Given the description of an element on the screen output the (x, y) to click on. 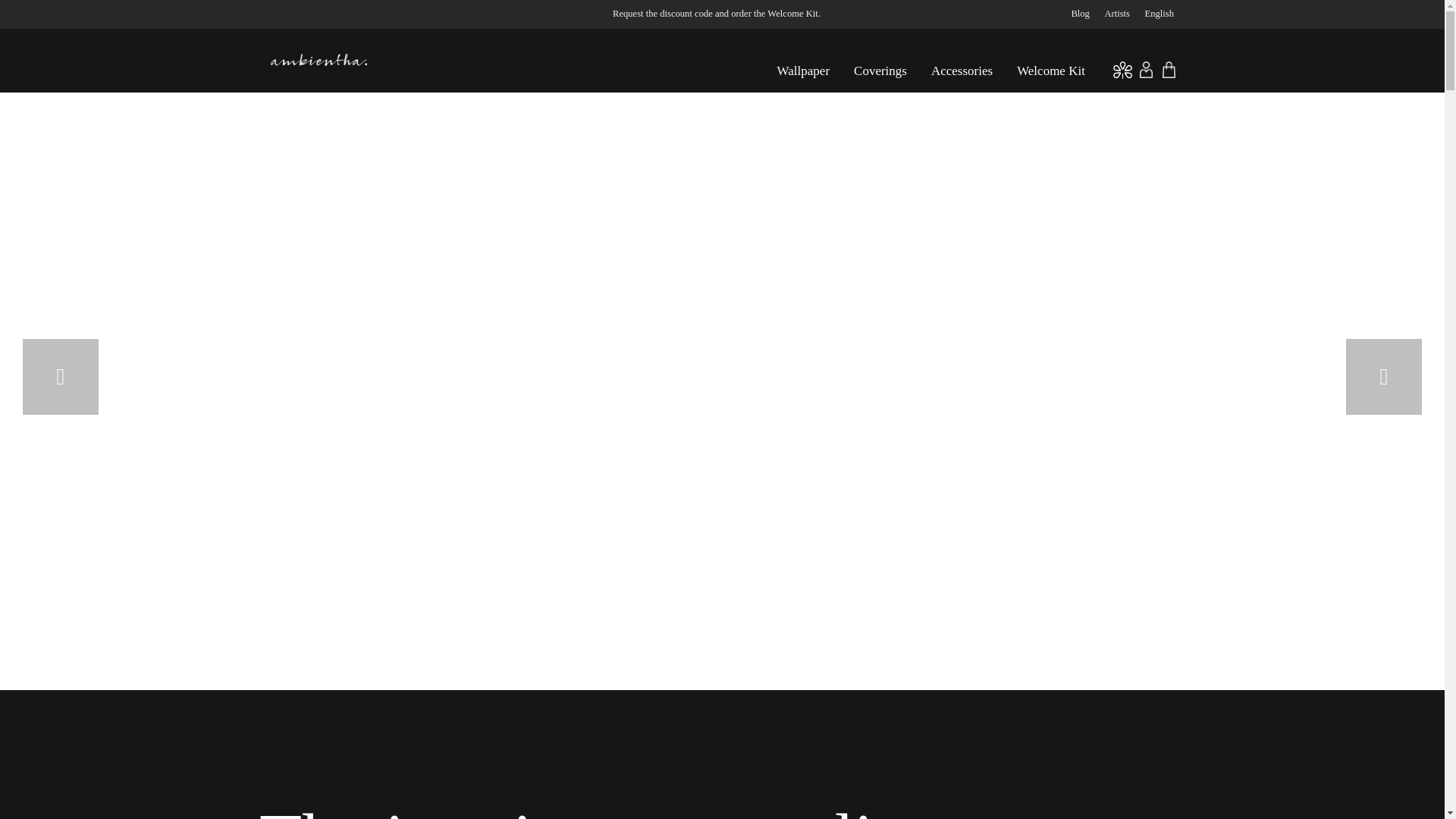
Accessories (961, 75)
English (1155, 13)
Dandelion Away (723, 283)
Blog (1079, 13)
Coverings (879, 75)
Wallpaper (803, 75)
English (1155, 13)
Artists (1116, 13)
Welcome Kit (1050, 75)
